Given the description of an element on the screen output the (x, y) to click on. 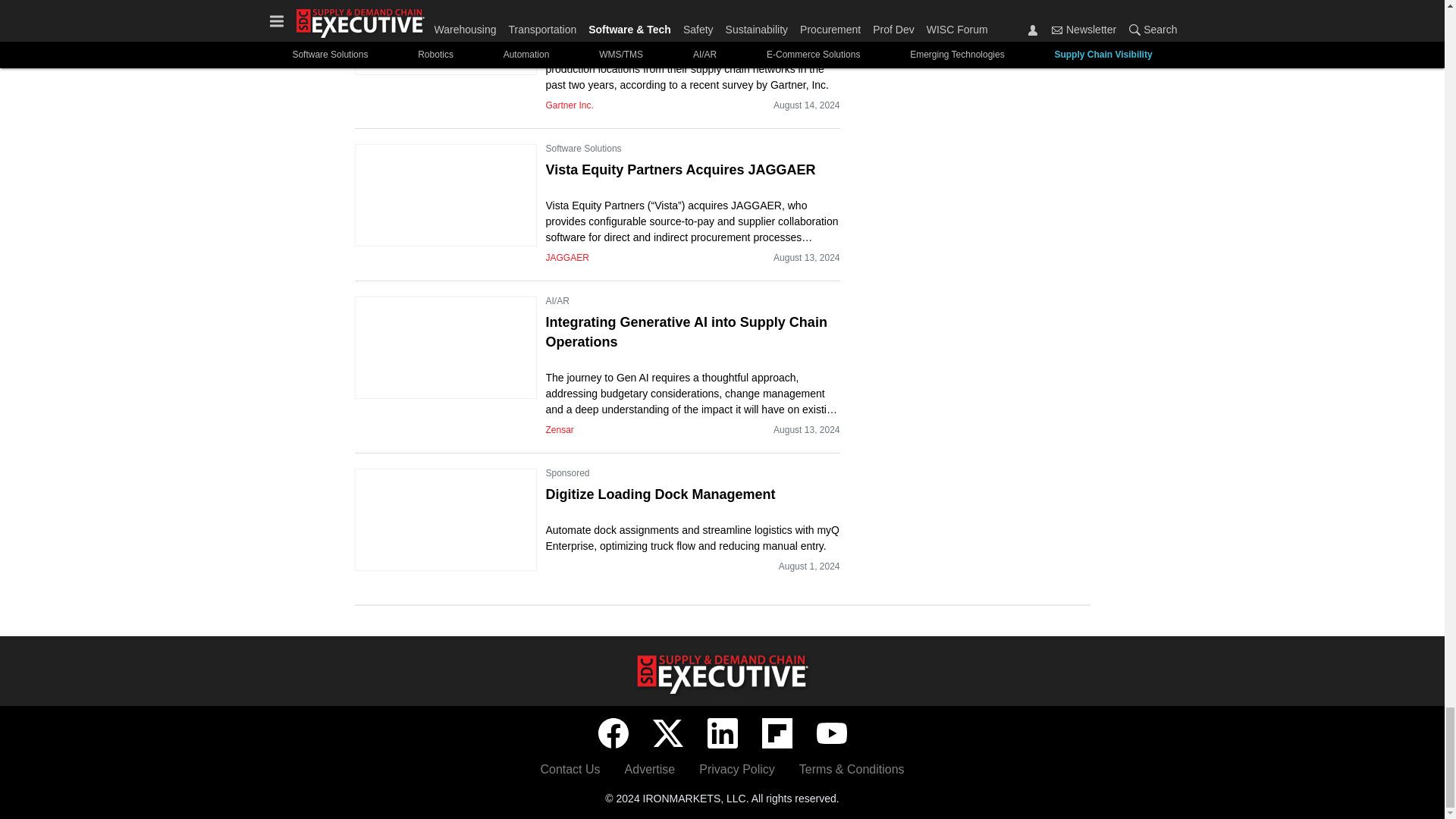
LinkedIn icon (721, 733)
Twitter X icon (667, 733)
YouTube icon (830, 733)
Facebook icon (611, 733)
Flipboard icon (776, 733)
